Given the description of an element on the screen output the (x, y) to click on. 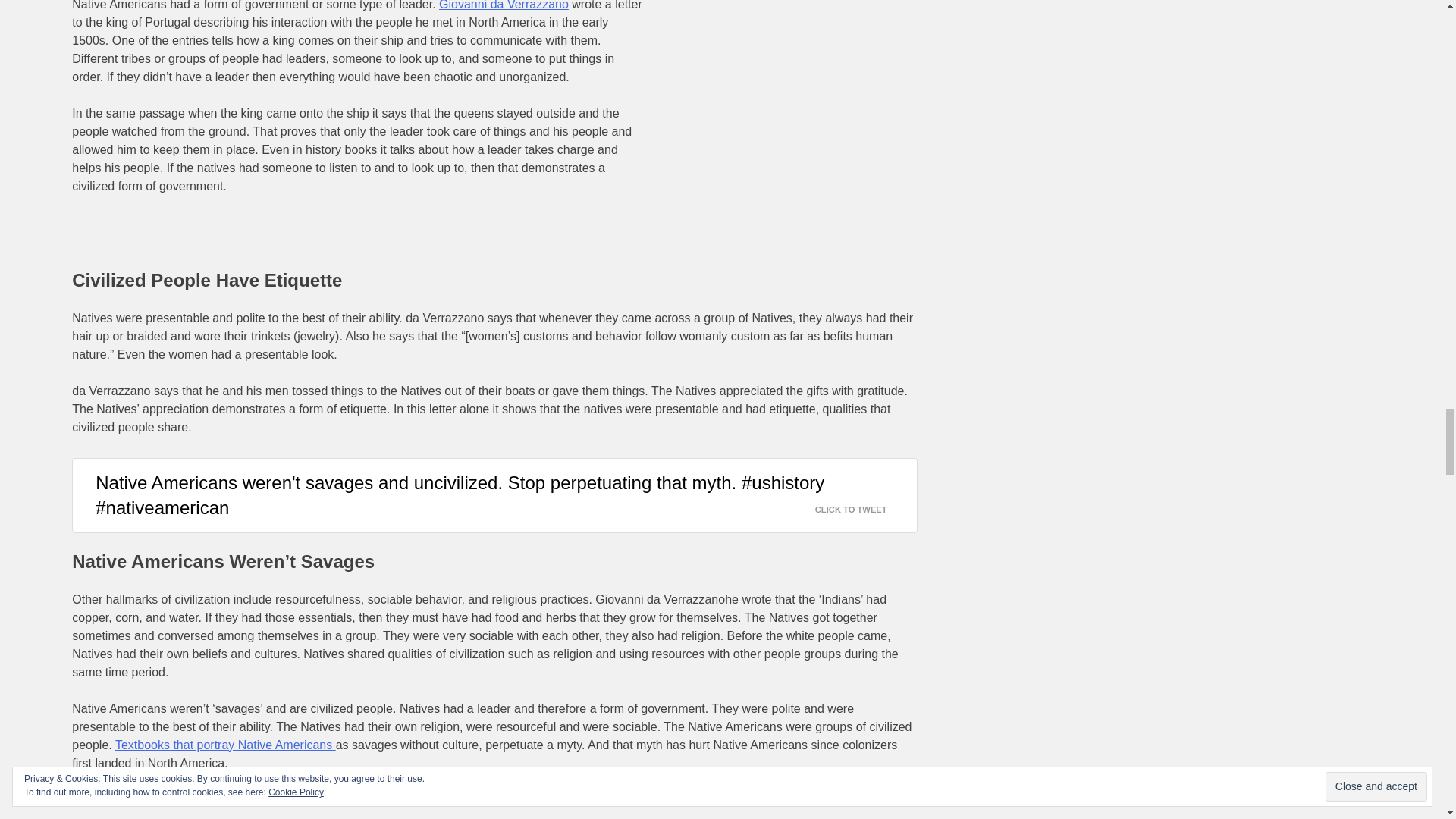
Textbooks that portray Native Americans (225, 744)
Giovanni da Verrazzano (504, 5)
CLICK TO TWEET (860, 505)
